Given the description of an element on the screen output the (x, y) to click on. 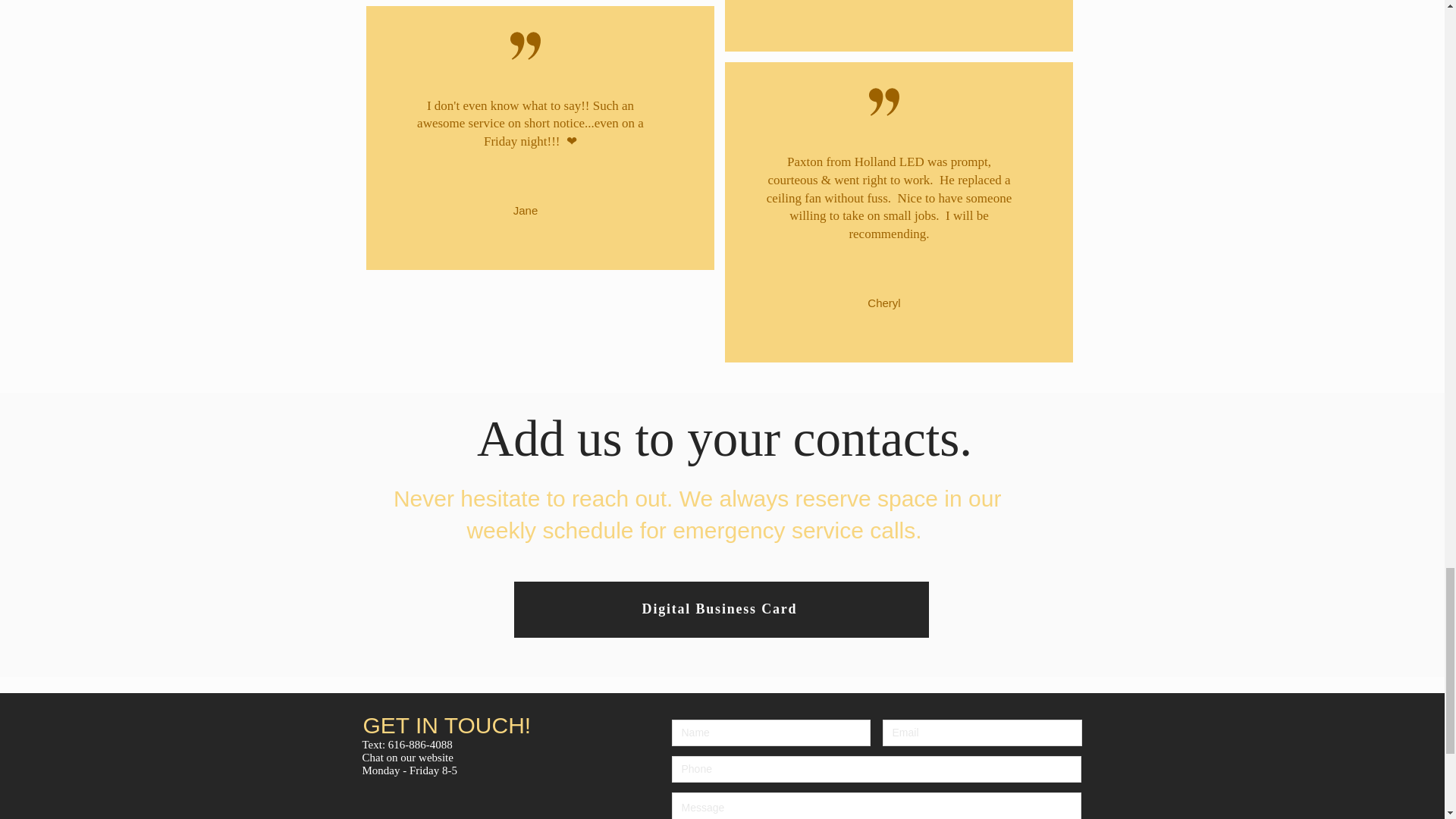
Digital Business Card (720, 609)
